Given the description of an element on the screen output the (x, y) to click on. 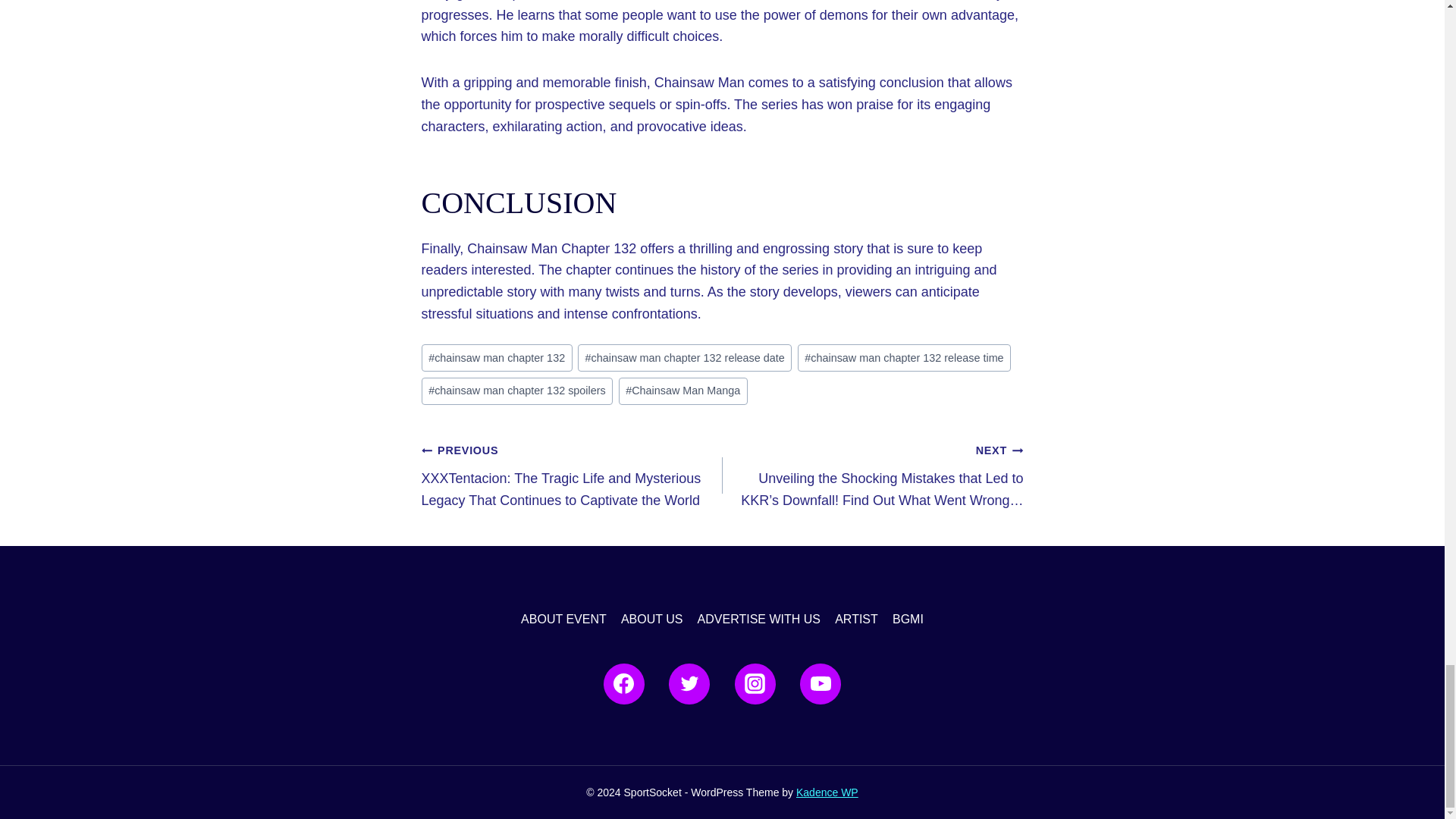
ADVERTISE WITH US (759, 619)
chainsaw man chapter 132 (497, 357)
Kadence WP (827, 792)
chainsaw man chapter 132 release date (685, 357)
chainsaw man chapter 132 spoilers (517, 391)
ABOUT US (651, 619)
Chainsaw Man Manga (683, 391)
ARTIST (856, 619)
BGMI (907, 619)
